Given the description of an element on the screen output the (x, y) to click on. 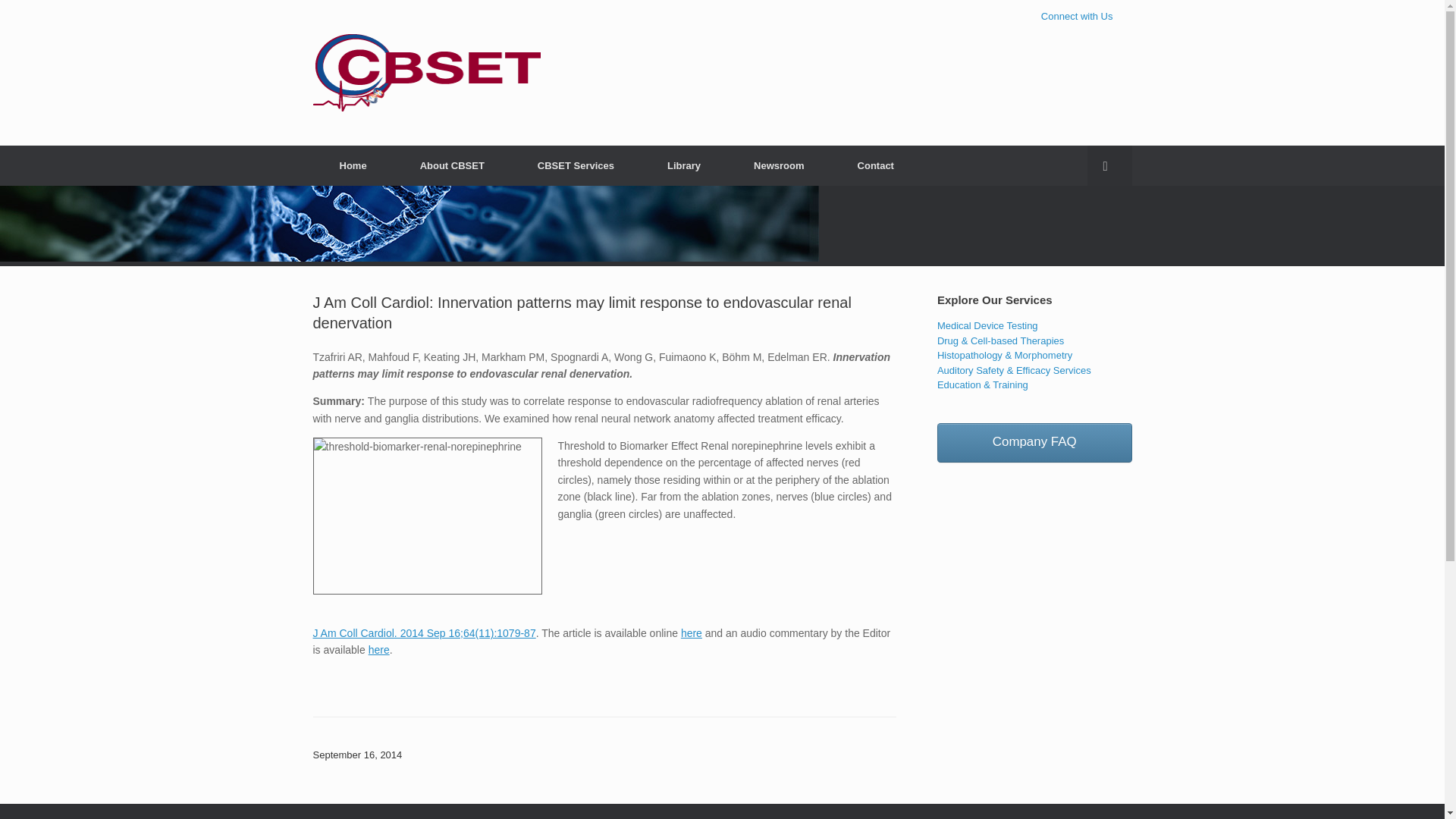
Medical Device Testing (987, 325)
CBSET (426, 72)
Contact CBSET about preclinical research services (1077, 16)
here (691, 633)
Library (683, 165)
About CBSET (452, 165)
CBSET Services (575, 165)
here (379, 649)
Newsroom (777, 165)
